Given the description of an element on the screen output the (x, y) to click on. 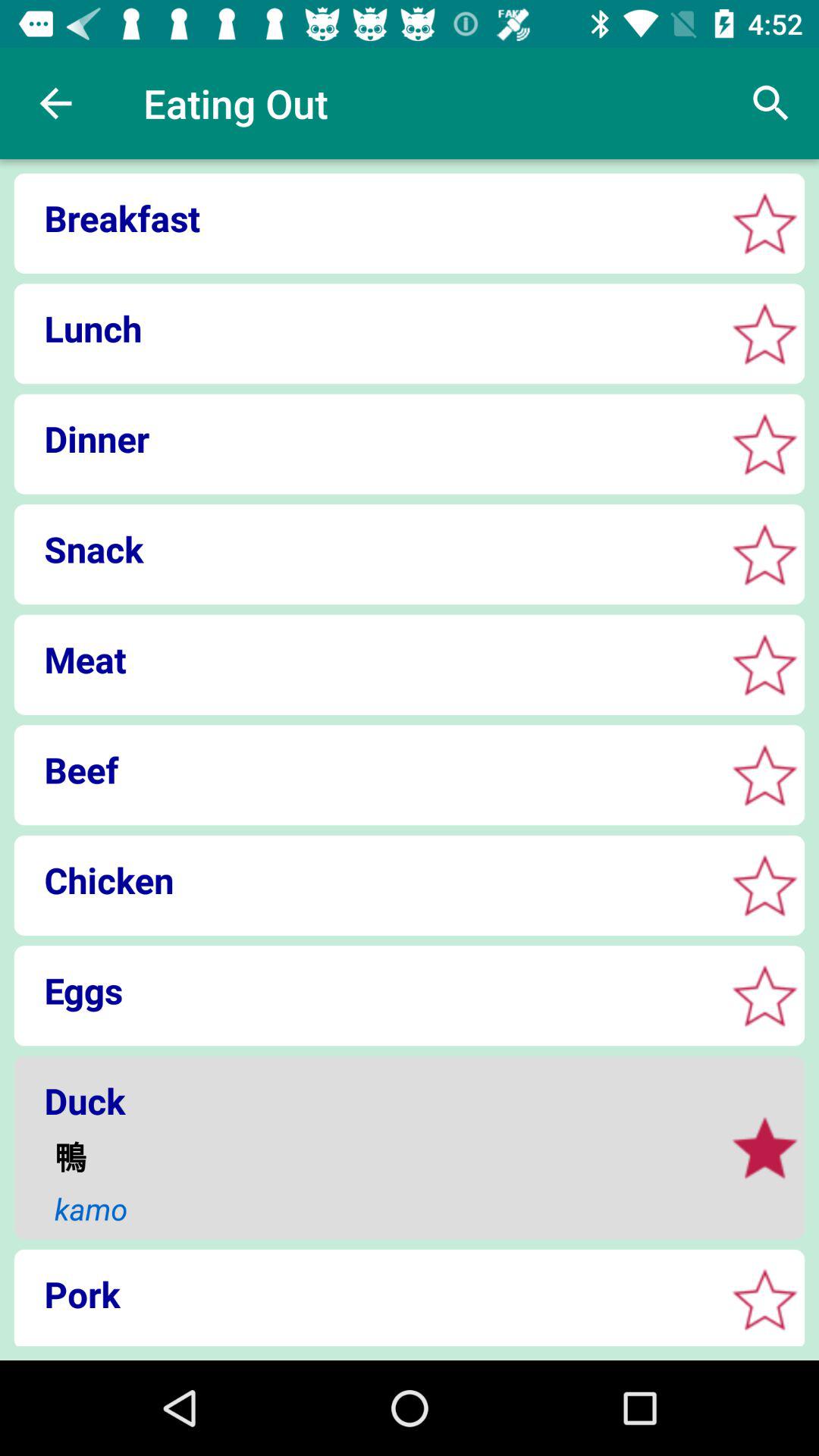
turn off beef item (364, 769)
